Given the description of an element on the screen output the (x, y) to click on. 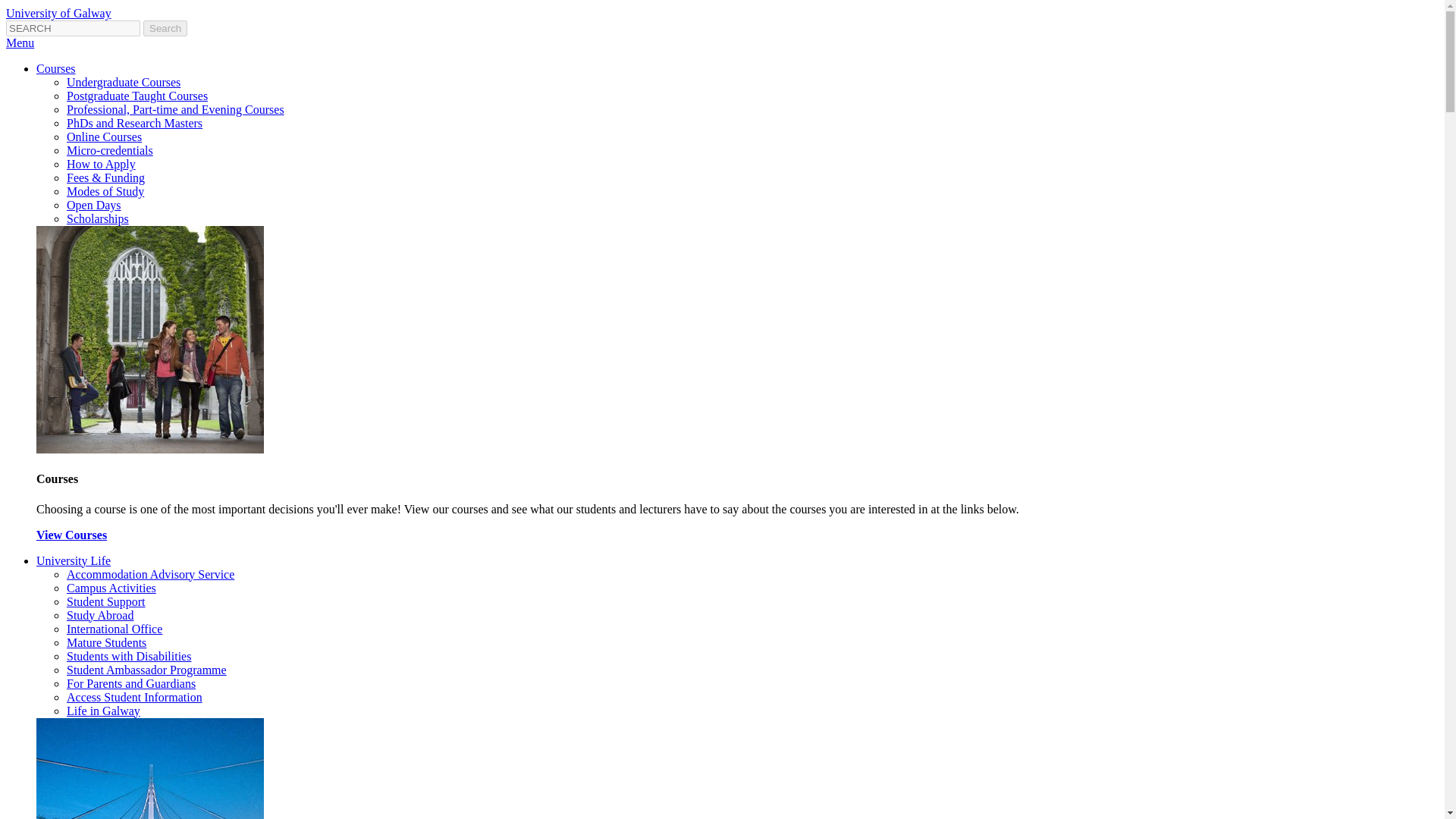
Micro-credentials (109, 150)
Your search phrase (72, 28)
University of Galway (58, 12)
Search (164, 28)
View Courses (71, 534)
PhDs and Research Masters (134, 123)
Menu (19, 42)
Modes of Study (105, 191)
Open Days (93, 205)
Campus Activities (110, 587)
Access Student Information (134, 697)
Scholarships (97, 218)
Life in Galway (102, 710)
Mature Students (106, 642)
Student Support (105, 601)
